Given the description of an element on the screen output the (x, y) to click on. 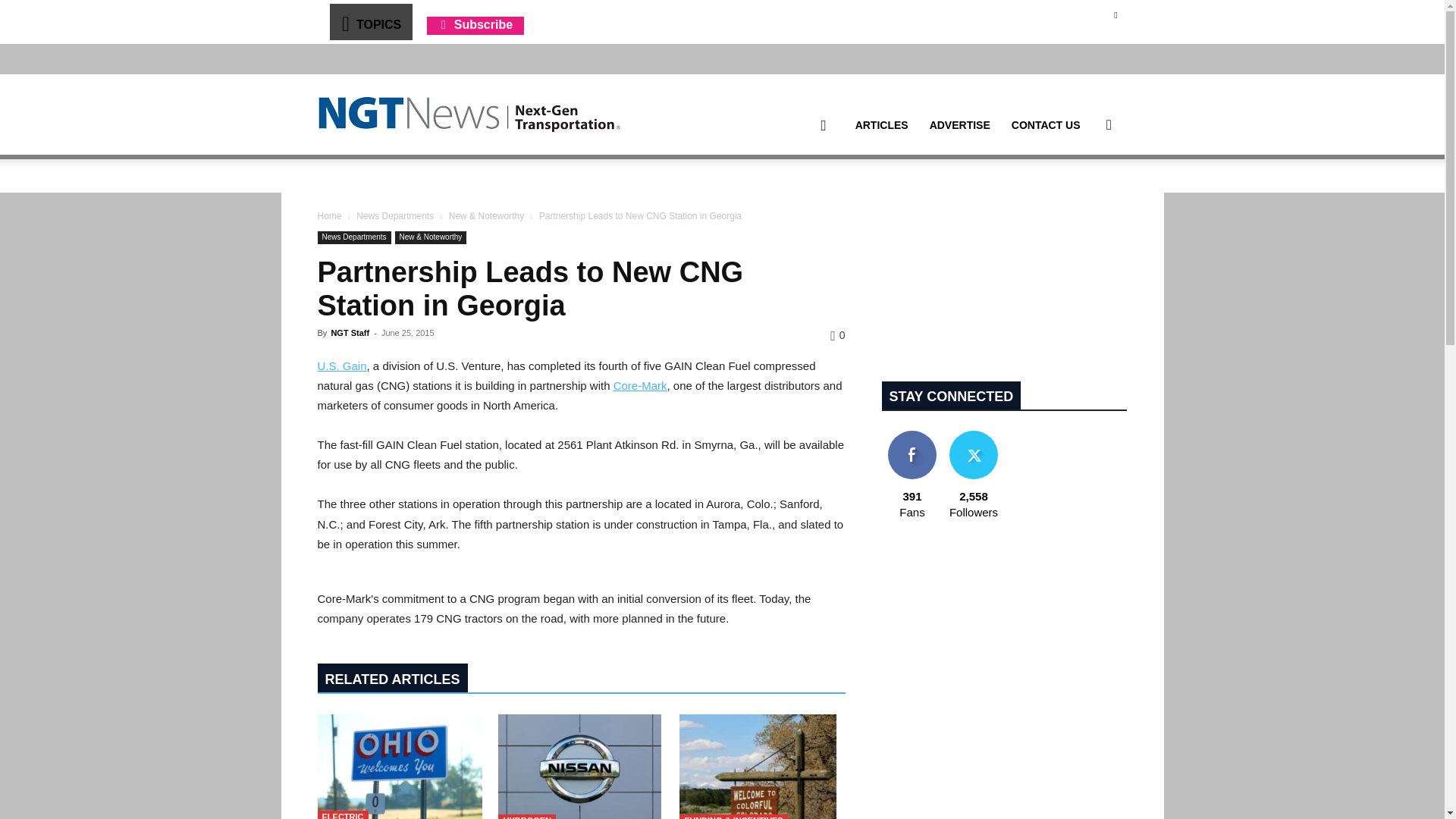
Twitter (1114, 14)
TOPICS (370, 22)
ARTICLES (881, 124)
Alternative Fuel News, CNG News (468, 114)
Search (1085, 197)
Subscribe (475, 24)
NGT News (468, 114)
